Given the description of an element on the screen output the (x, y) to click on. 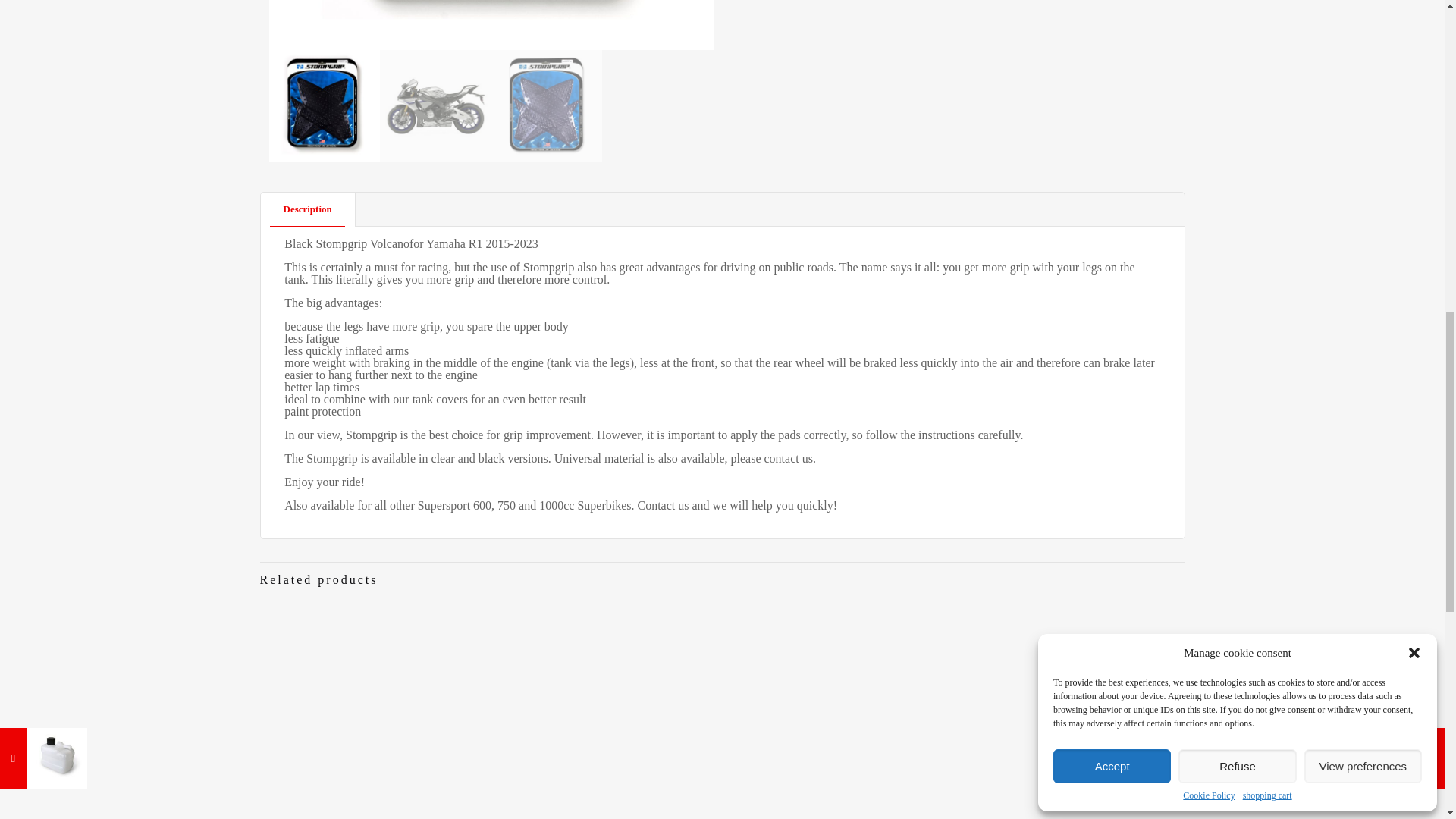
188832135 (490, 24)
